Given the description of an element on the screen output the (x, y) to click on. 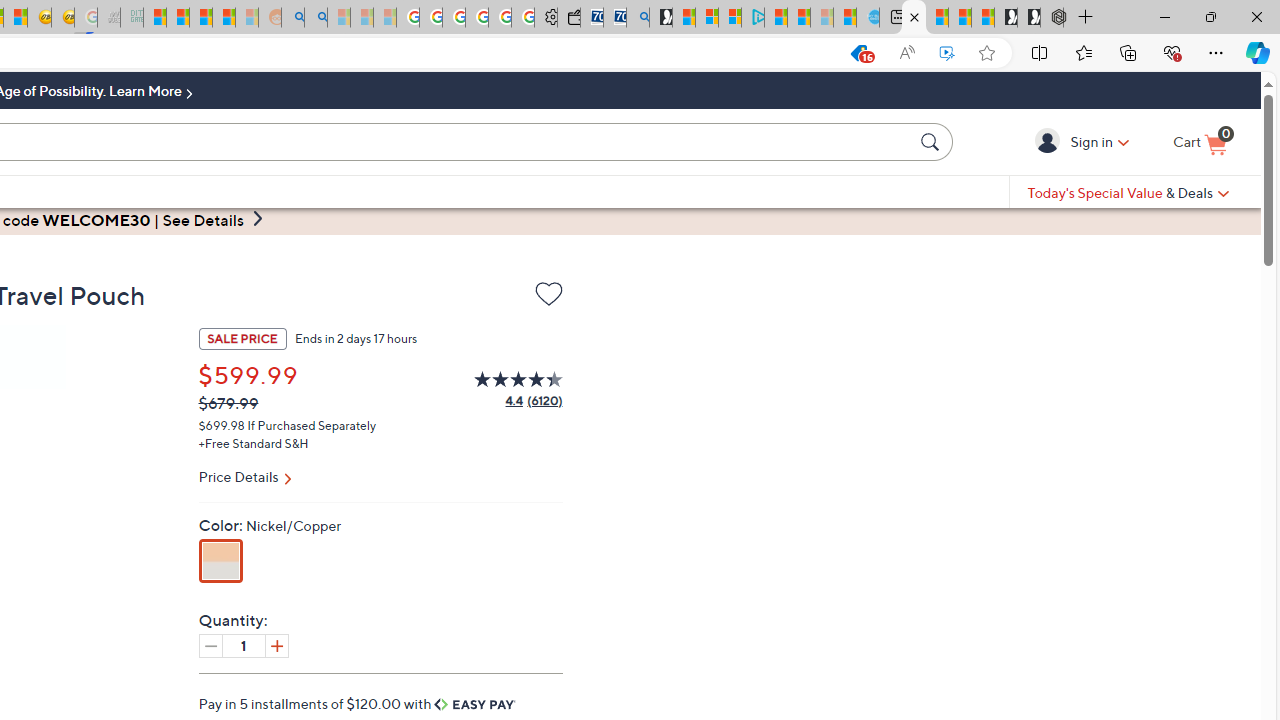
Student Loan Update: Forgiveness Program Ends This Month (223, 17)
Today's Special Value & Deals (1128, 192)
Easy Pay (475, 703)
Search Submit (932, 141)
